Given the description of an element on the screen output the (x, y) to click on. 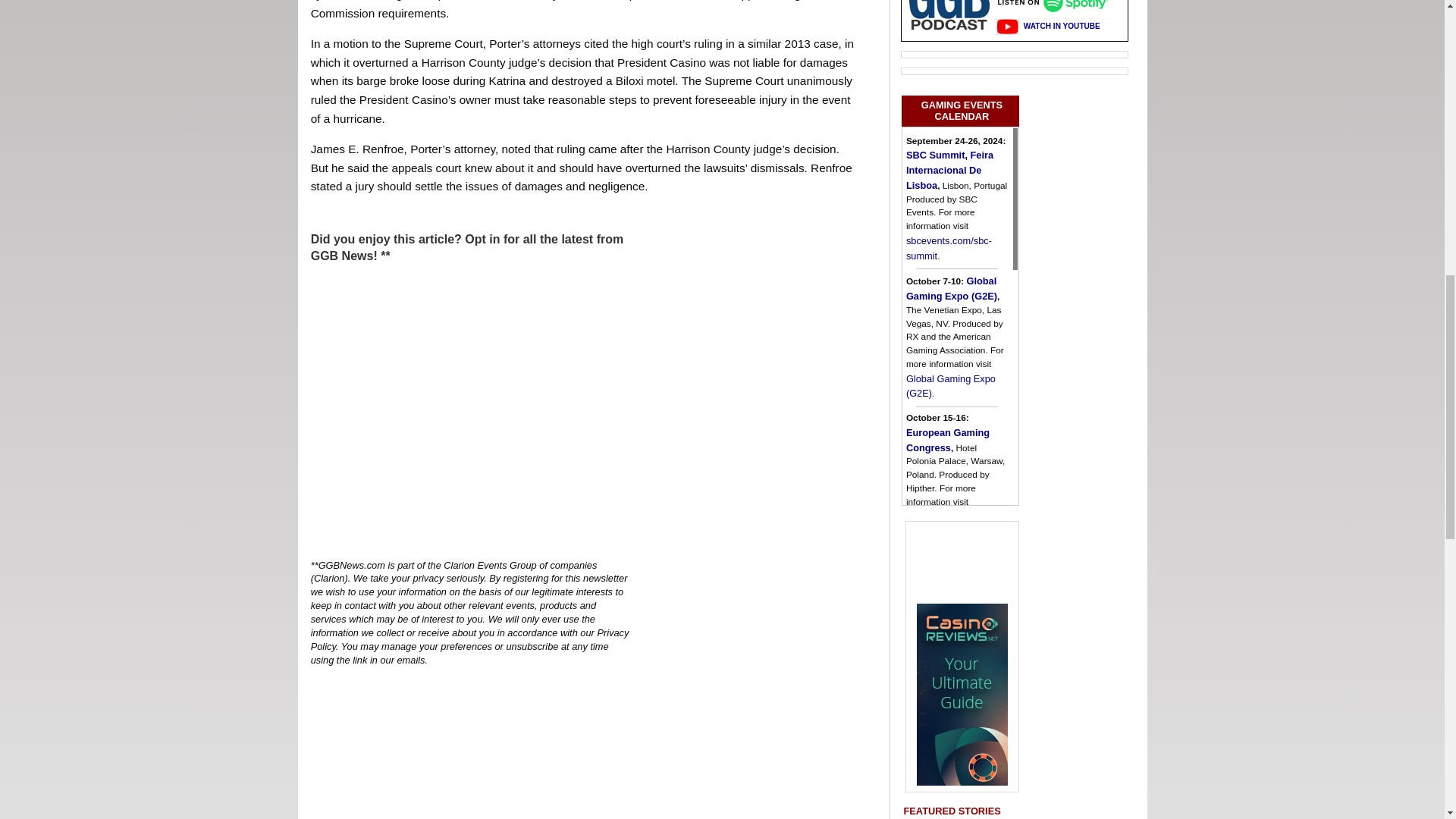
Form (470, 411)
WATCH IN YOUTUBE (1047, 26)
SBC Summit, Feira Internacional De Lisboa (948, 169)
European Gaming Congress (947, 439)
GAMING EVENTS CALENDAR (960, 110)
Eastern European Gaming Summit (947, 562)
View in GGB Podcast YouTube Channel (1047, 26)
GGB Magazine Podcasts on Spotify (1057, 9)
